Given the description of an element on the screen output the (x, y) to click on. 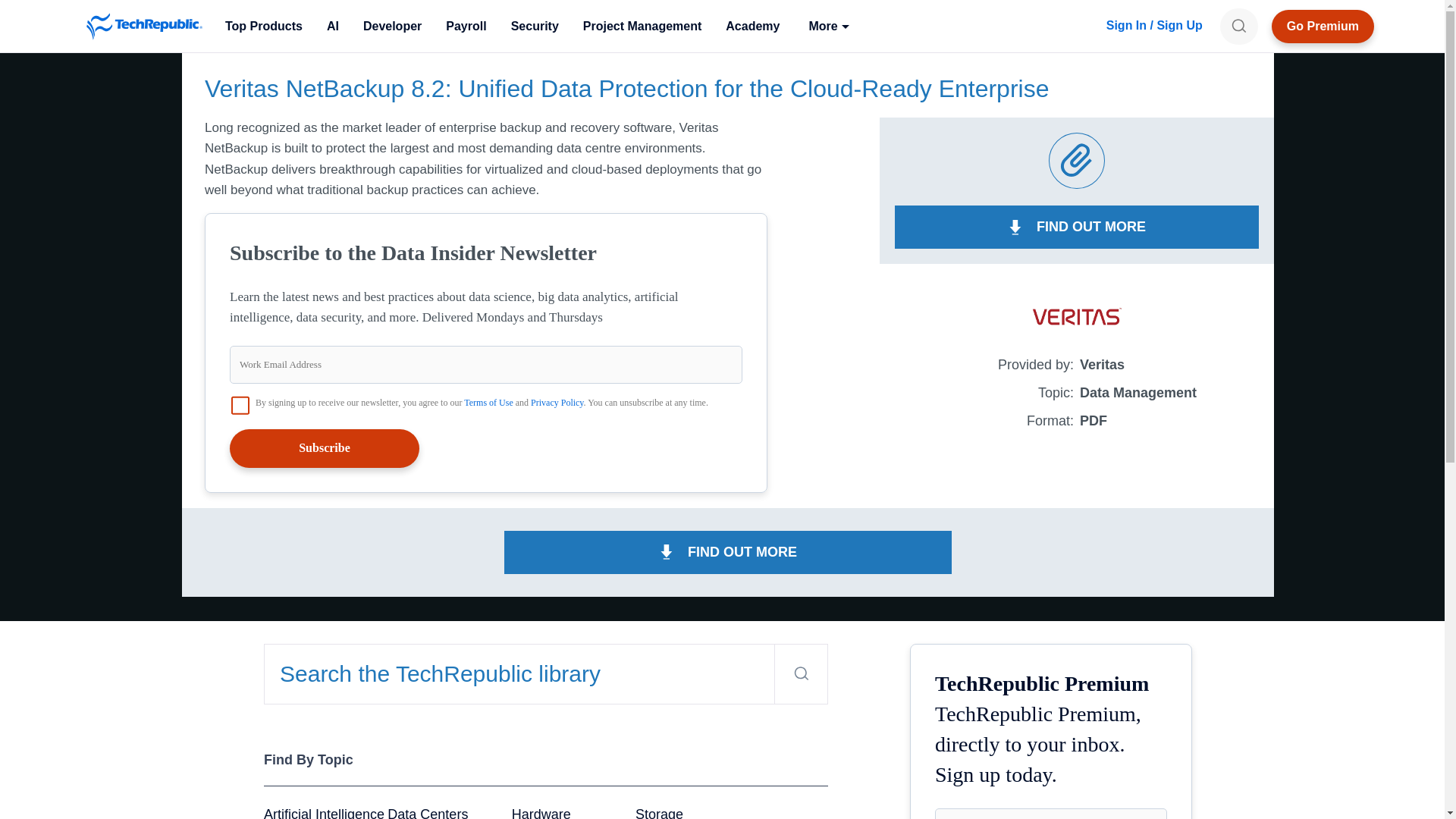
on (239, 405)
FIND OUT MORE (1077, 226)
Developer (392, 26)
Go Premium (1322, 25)
Academy (752, 26)
TechRepublic (143, 25)
Project Management (641, 26)
TechRepublic (143, 25)
TechRepublic Premium (1322, 25)
Security (534, 26)
TechRepublic (143, 25)
Subscribe (324, 447)
Payroll (465, 26)
FIND OUT MORE (727, 552)
Privacy Policy (557, 402)
